Given the description of an element on the screen output the (x, y) to click on. 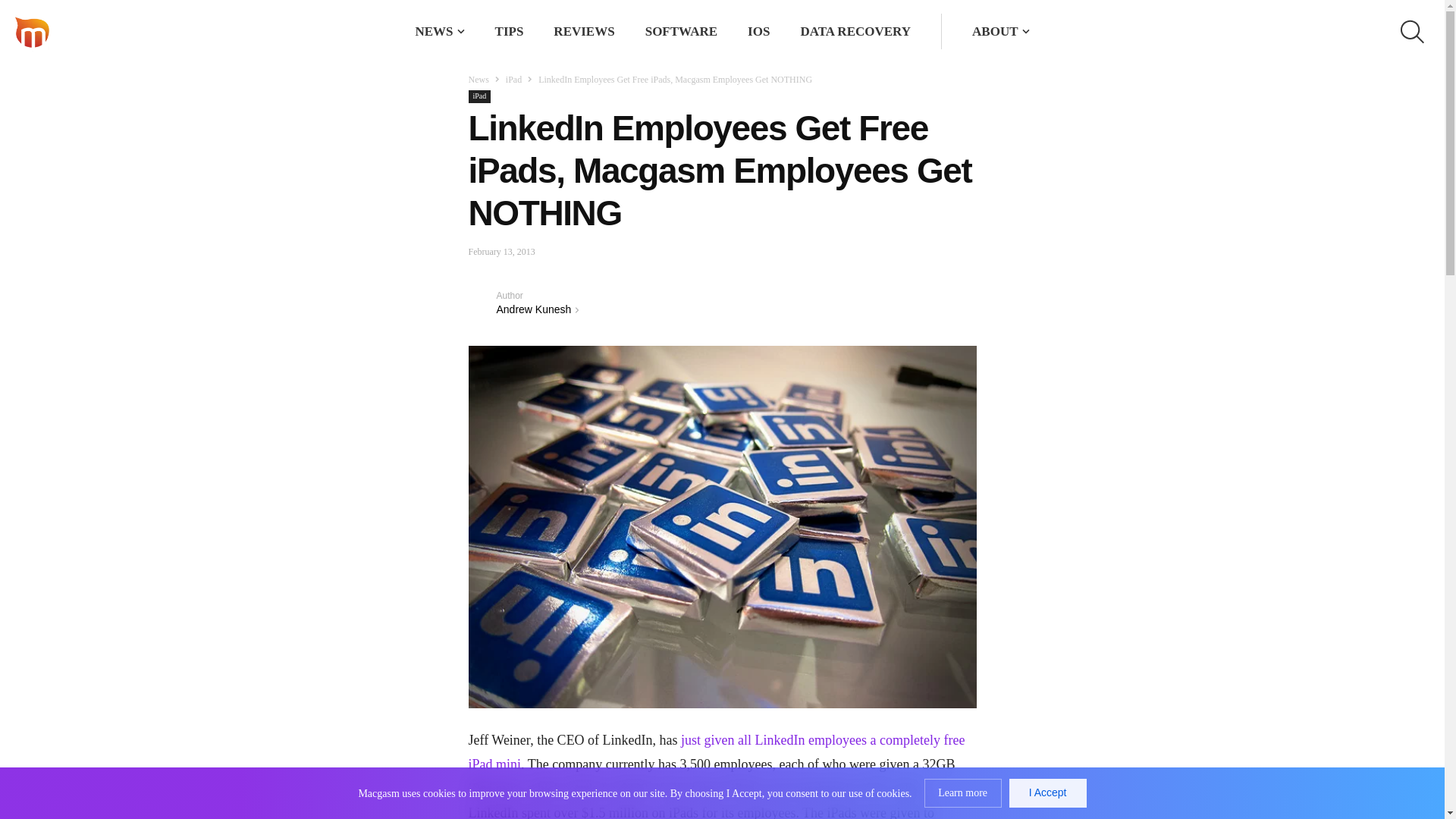
ABOUT (994, 31)
iPad (513, 79)
View all posts in iPad (513, 79)
Andrew Kunesh (533, 309)
DATA RECOVERY (855, 31)
Search (918, 31)
NEWS (433, 31)
Andrew Kunesh (482, 301)
REVIEWS (583, 31)
News (478, 79)
iPad (480, 96)
SOFTWARE (681, 31)
Search (918, 31)
